Given the description of an element on the screen output the (x, y) to click on. 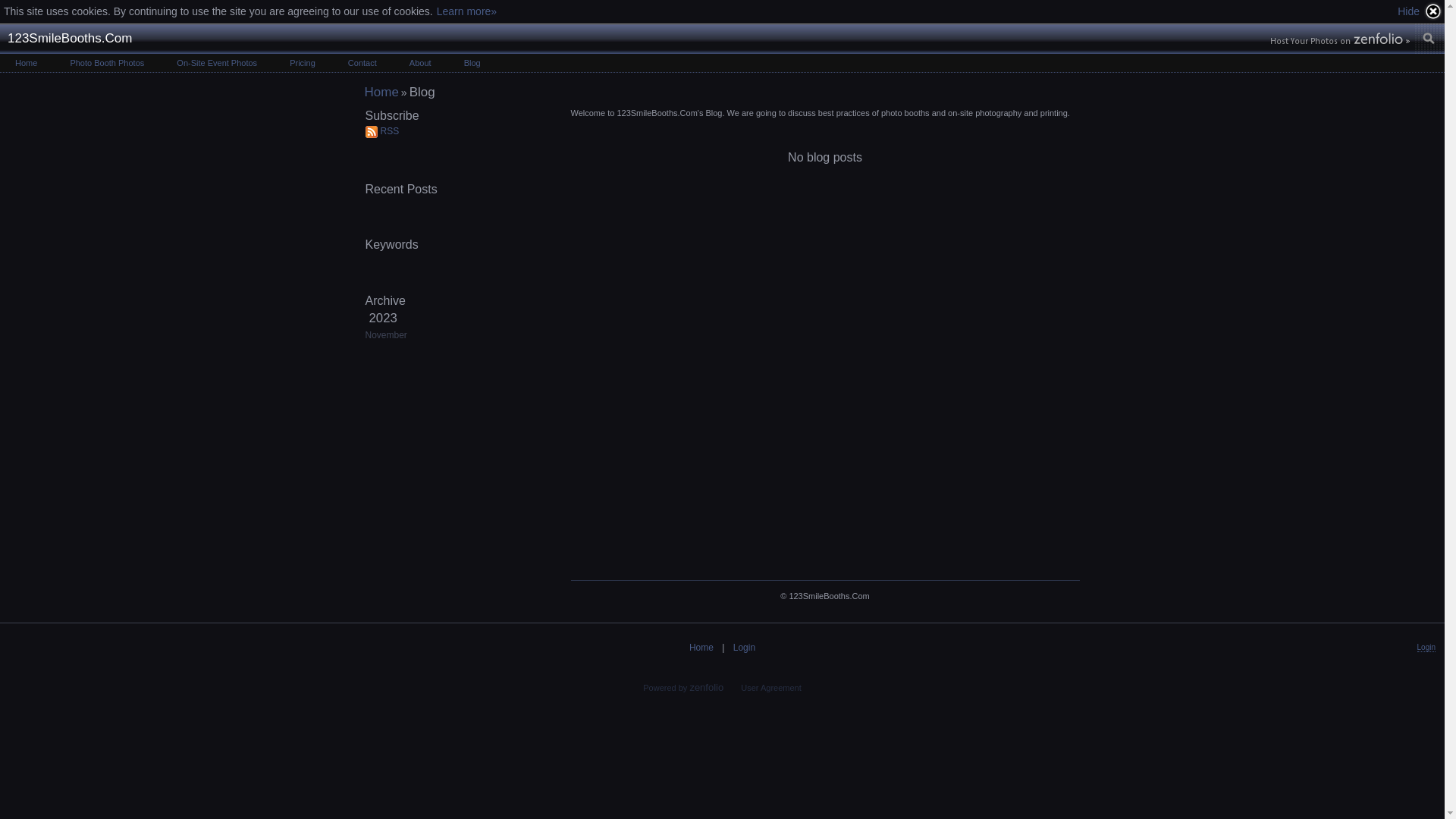
On-Site Event Photos Element type: text (216, 62)
User Agreement Element type: text (770, 687)
Pricing Element type: text (302, 62)
Home Element type: text (381, 91)
123SmileBooths.Com Element type: text (69, 38)
Host Your Photos on Zenfolio Element type: hover (1338, 40)
About Element type: text (420, 62)
Hide Element type: text (1419, 11)
Login Element type: text (744, 647)
RSS Element type: text (452, 134)
Home Element type: text (26, 62)
Home Element type: text (702, 647)
Login Element type: text (1426, 647)
Powered by zenfolio Element type: text (683, 687)
Contact Element type: text (362, 62)
Blog Element type: text (471, 62)
Photo Booth Photos Element type: text (106, 62)
